Given the description of an element on the screen output the (x, y) to click on. 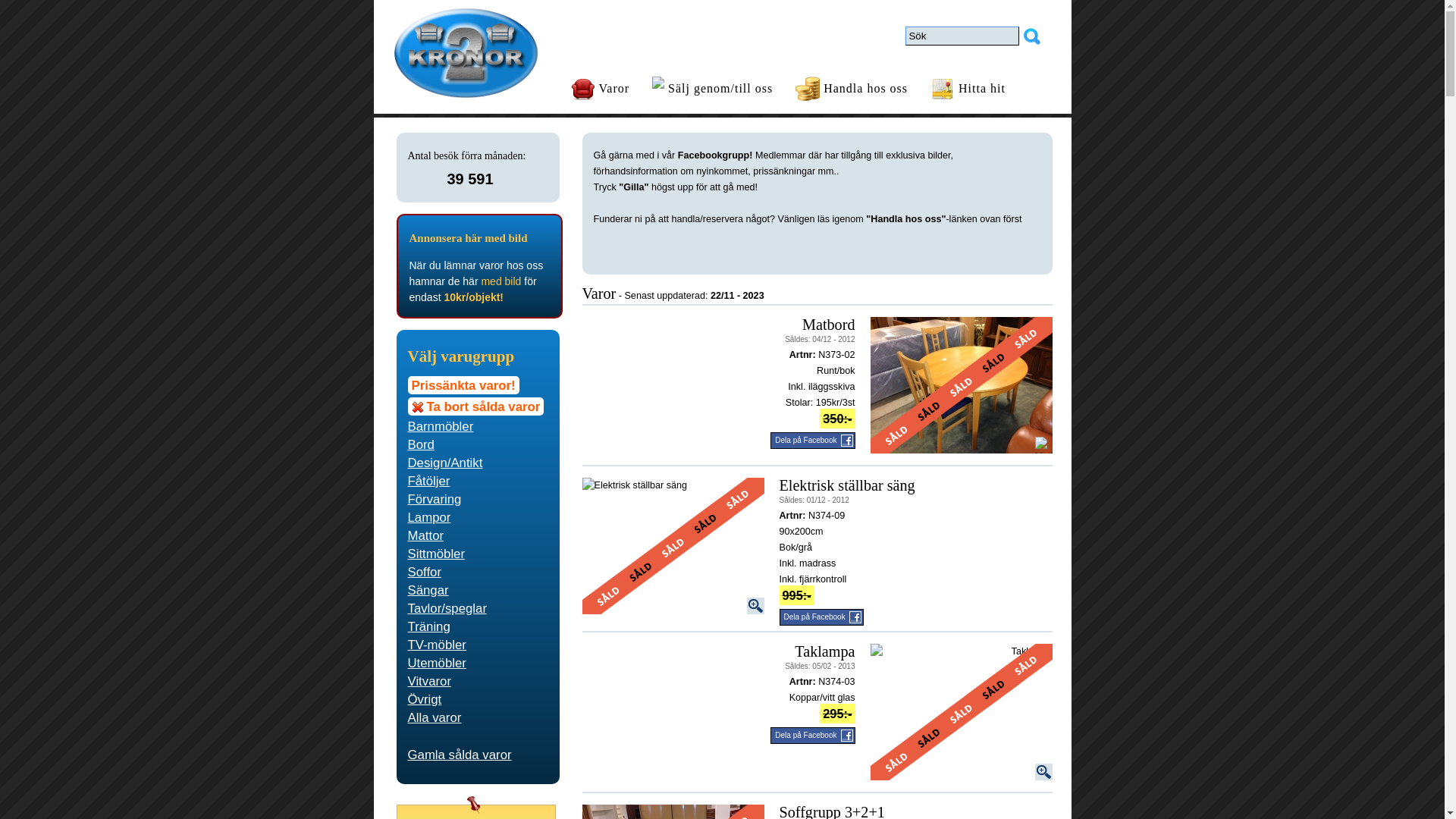
Handla hos oss Element type: text (851, 88)
Mattor Element type: text (477, 534)
Lampor Element type: text (477, 516)
Design/Antikt Element type: text (477, 462)
Vitvaror Element type: text (477, 680)
Tavlor/speglar Element type: text (477, 607)
Hitta hit Element type: text (967, 88)
Varor Element type: text (599, 88)
Bord Element type: text (477, 443)
Soffor Element type: text (477, 571)
Alla varor Element type: text (477, 716)
